Given the description of an element on the screen output the (x, y) to click on. 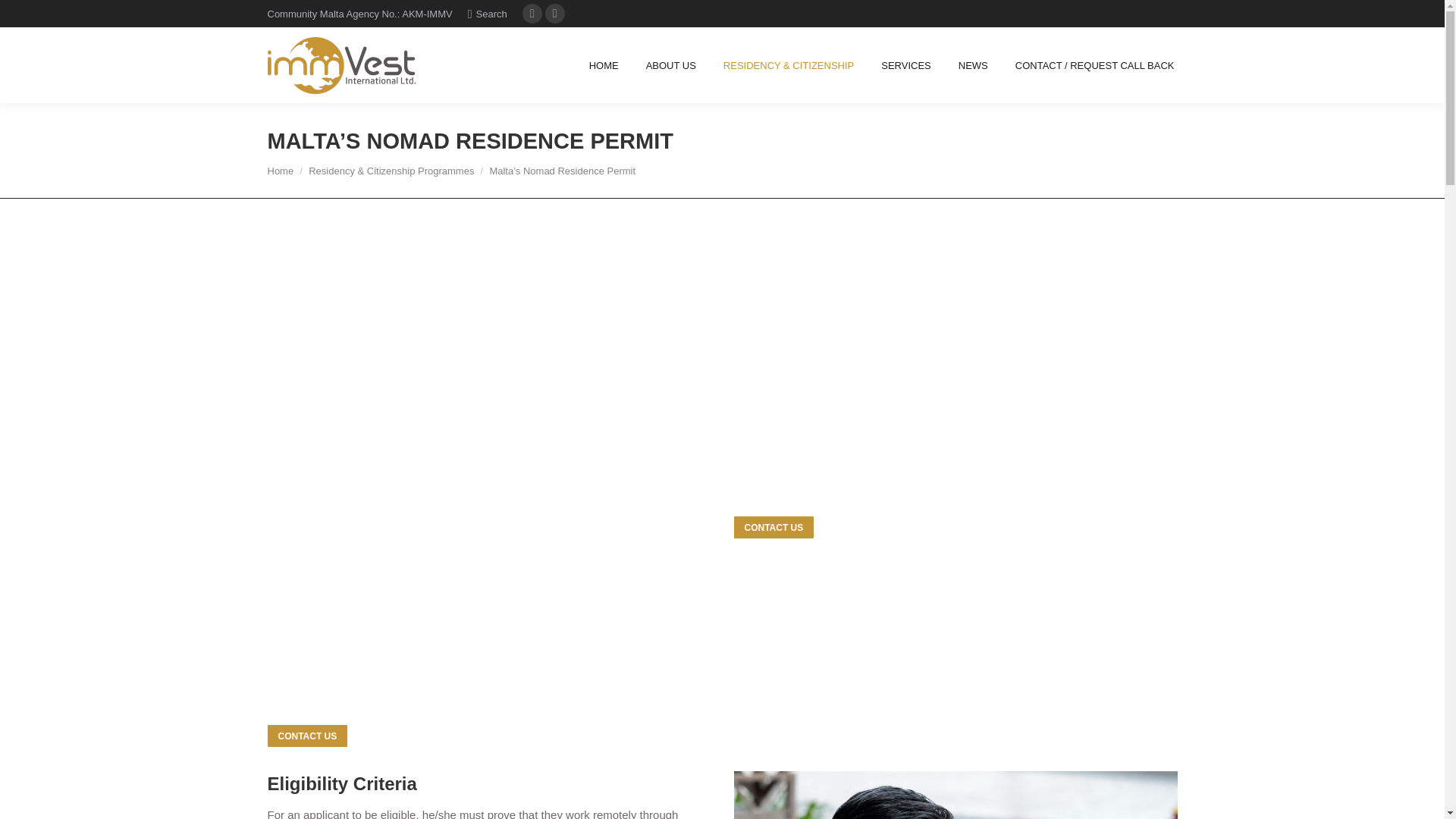
Home (280, 170)
ABOUT US (670, 64)
Contact Us (773, 527)
Go! (24, 16)
digital-nomad-W96Y577 (955, 795)
Linkedin page opens in new window (531, 13)
Contact Us (306, 735)
Facebook page opens in new window (554, 13)
SERVICES (905, 64)
Search (486, 12)
